Given the description of an element on the screen output the (x, y) to click on. 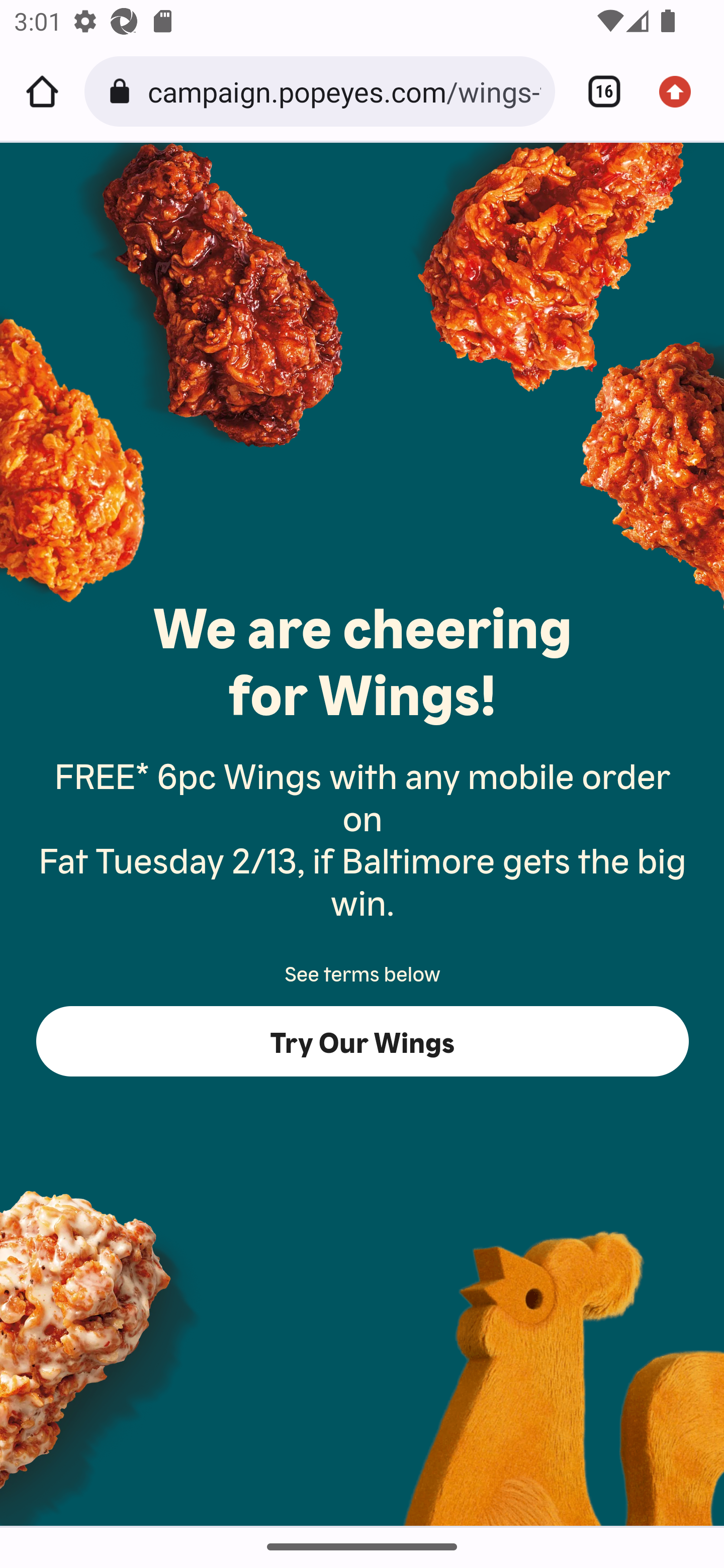
Home (42, 91)
Connection is secure (122, 91)
Switch or close tabs (597, 91)
Update available. More options (681, 91)
campaign.popeyes.com/wings-for-wings (343, 90)
Try Our Wings (362, 1041)
